Given the description of an element on the screen output the (x, y) to click on. 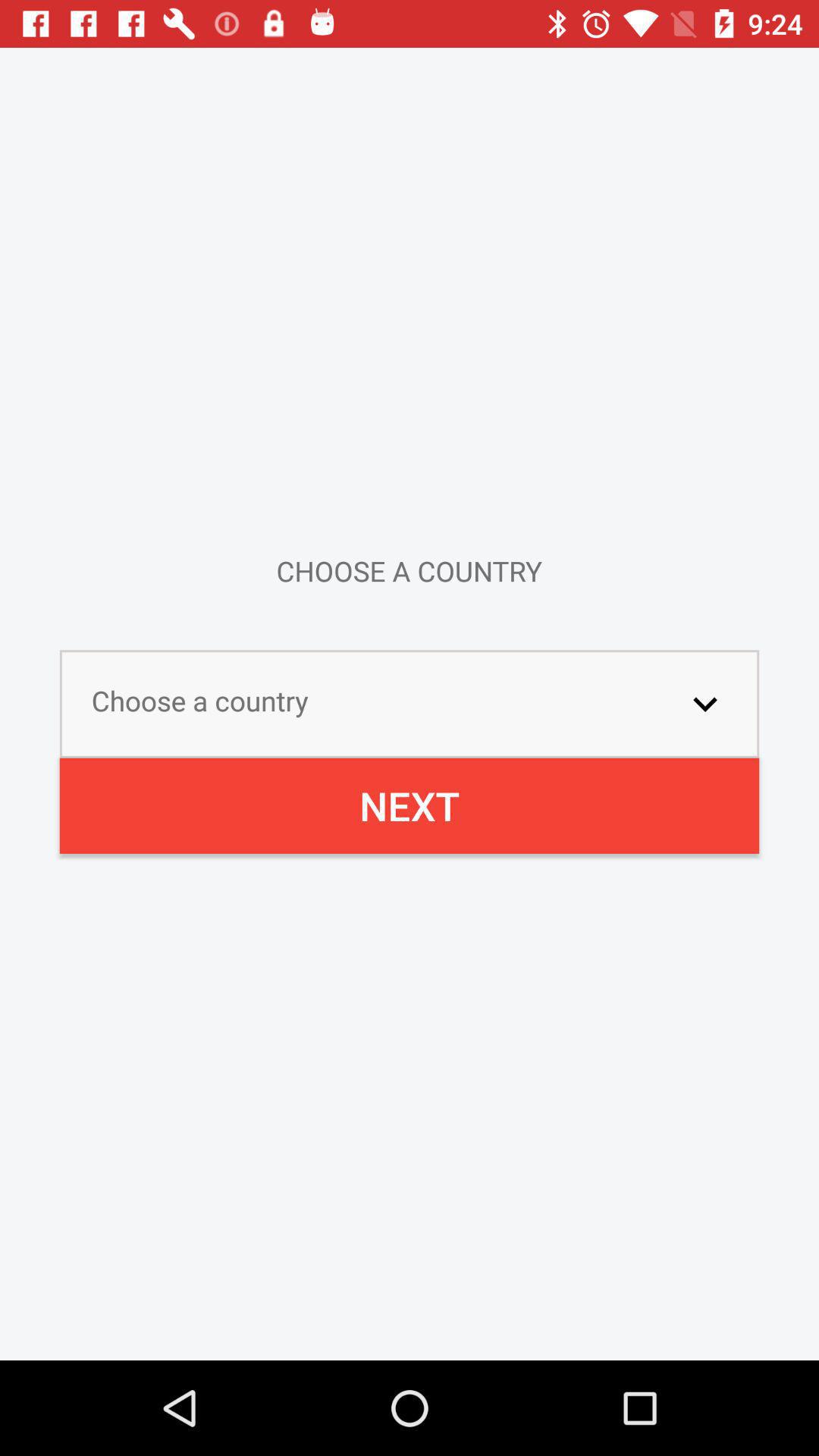
choose item on the right (705, 704)
